Given the description of an element on the screen output the (x, y) to click on. 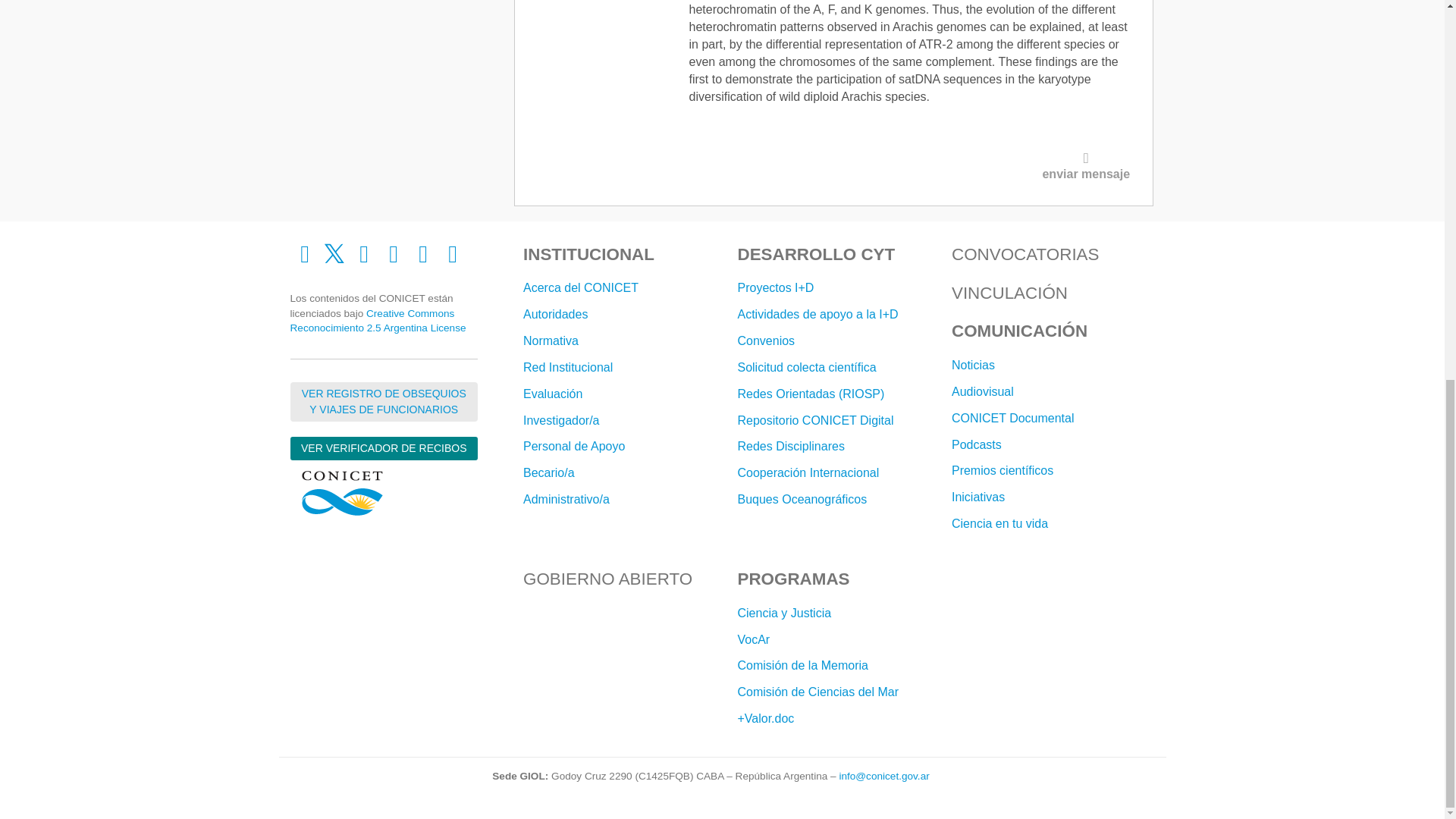
Ver verificador de recibos (383, 448)
Ver Registro de Obsequios y Viajes de Funcionarios (383, 401)
